Given the description of an element on the screen output the (x, y) to click on. 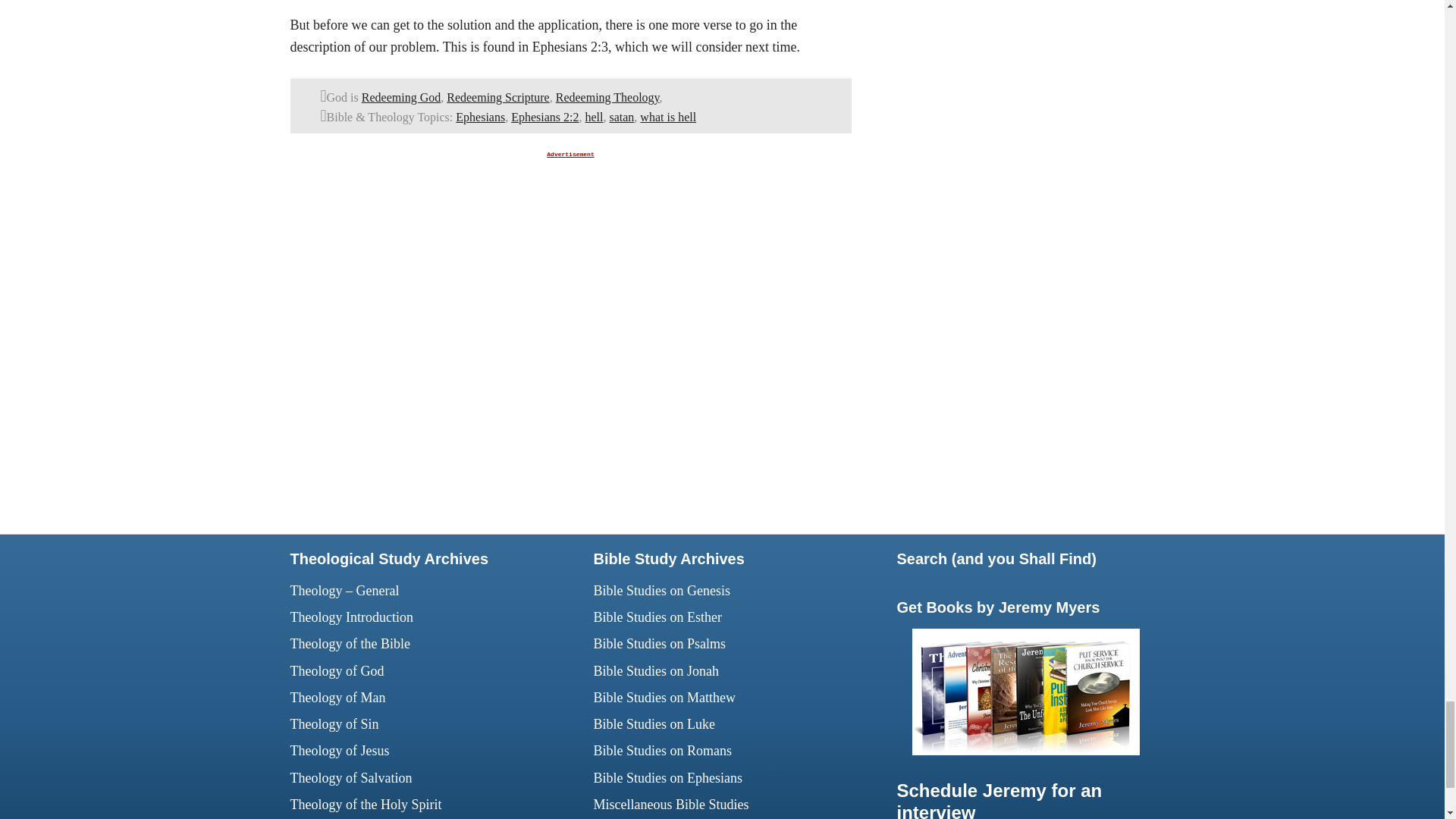
Books by Jeremy Myers (1024, 750)
Redeeming God (401, 97)
